Given the description of an element on the screen output the (x, y) to click on. 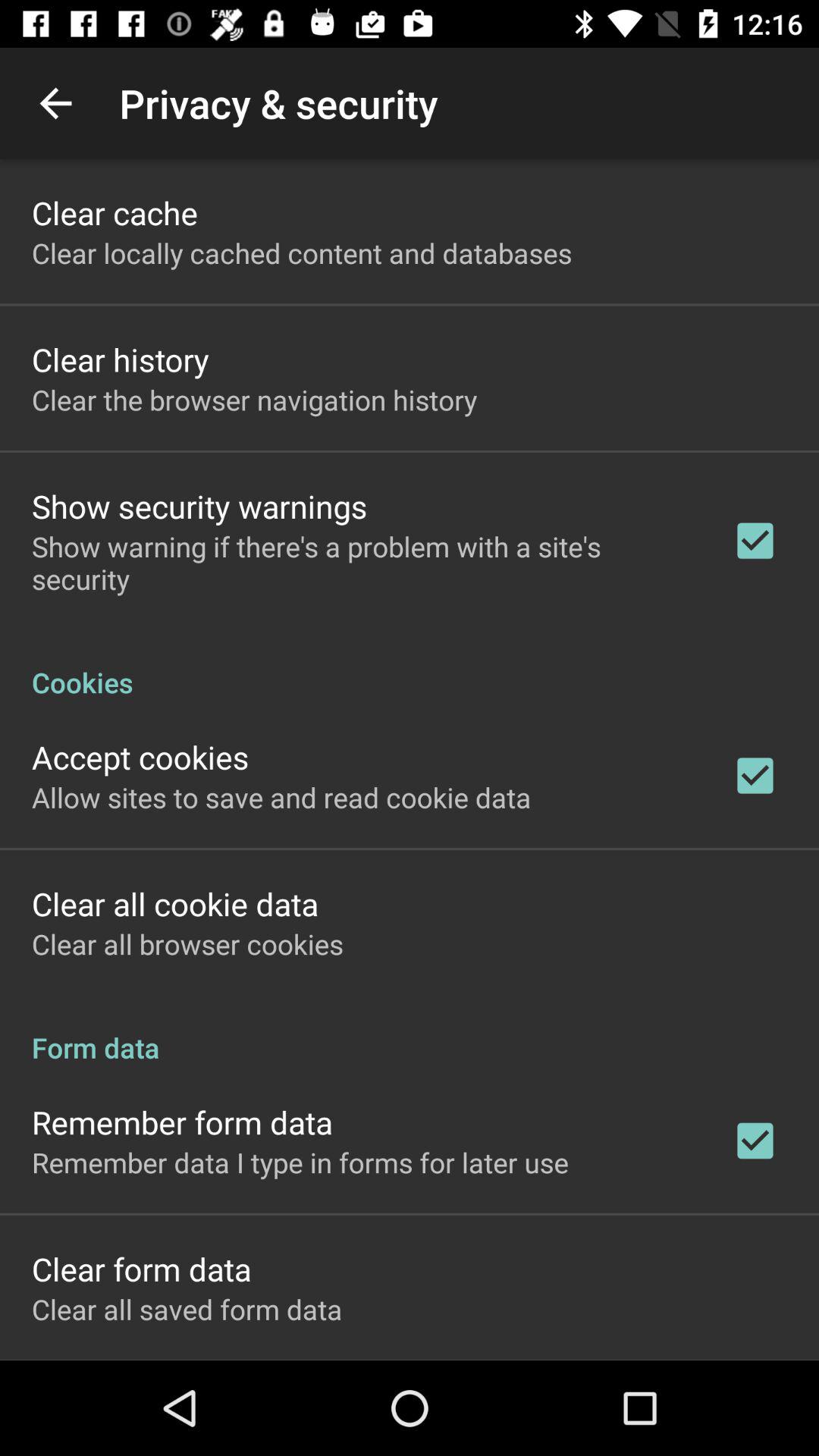
launch show warning if (361, 562)
